Given the description of an element on the screen output the (x, y) to click on. 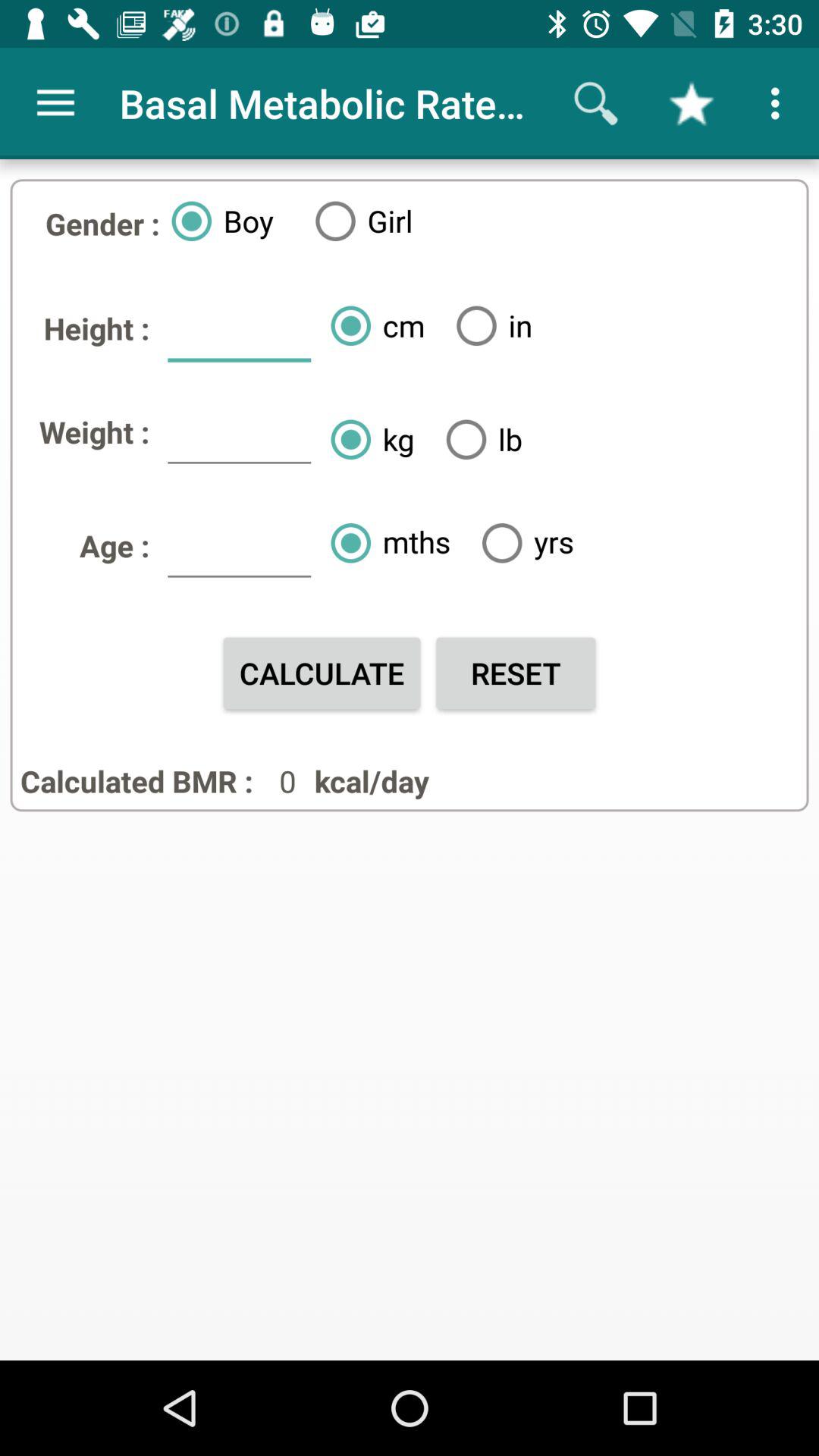
turn off the item to the right of the kg item (478, 439)
